Given the description of an element on the screen output the (x, y) to click on. 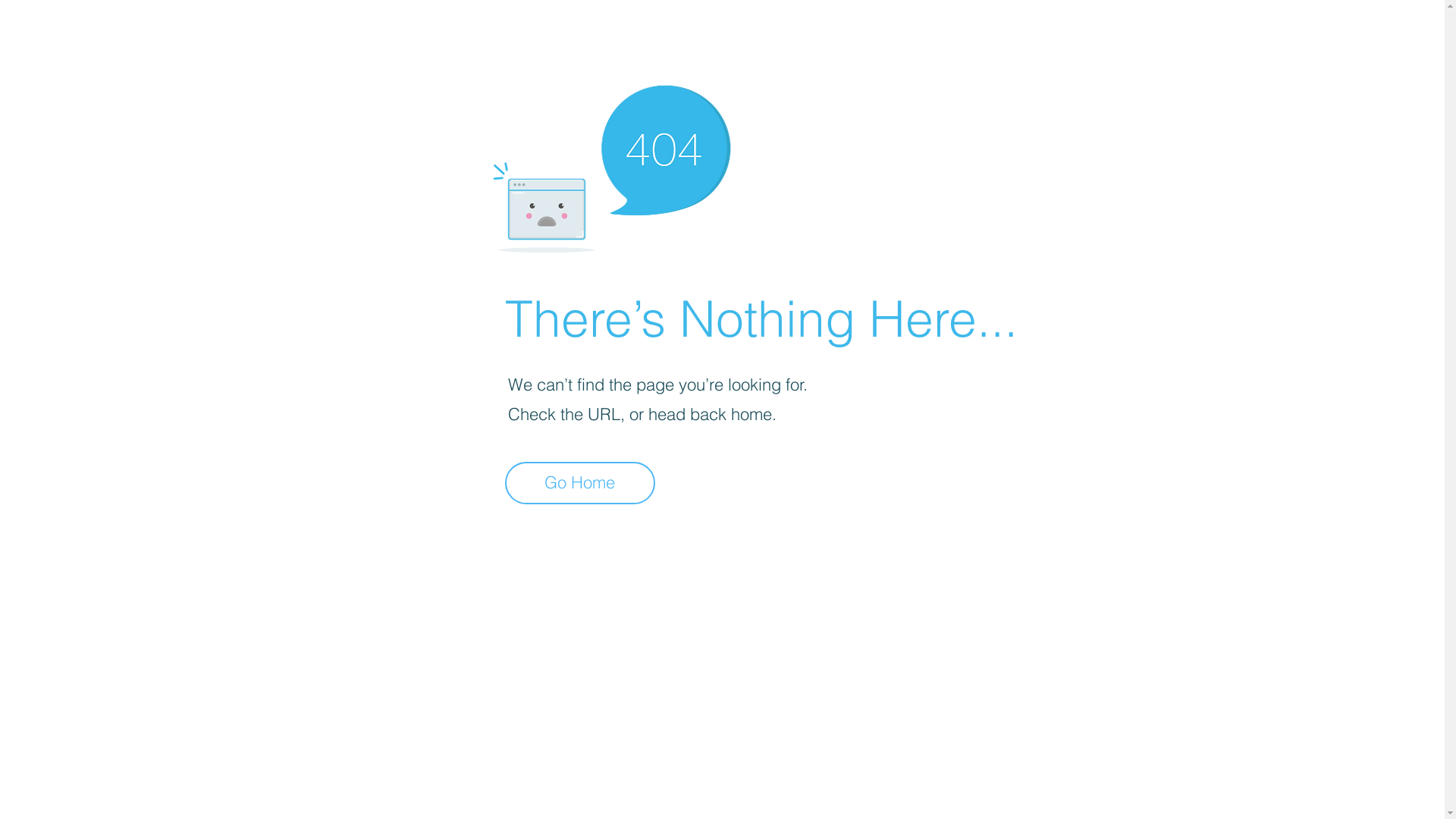
Go Home Element type: text (580, 482)
404-icon_2.png Element type: hover (610, 164)
